Given the description of an element on the screen output the (x, y) to click on. 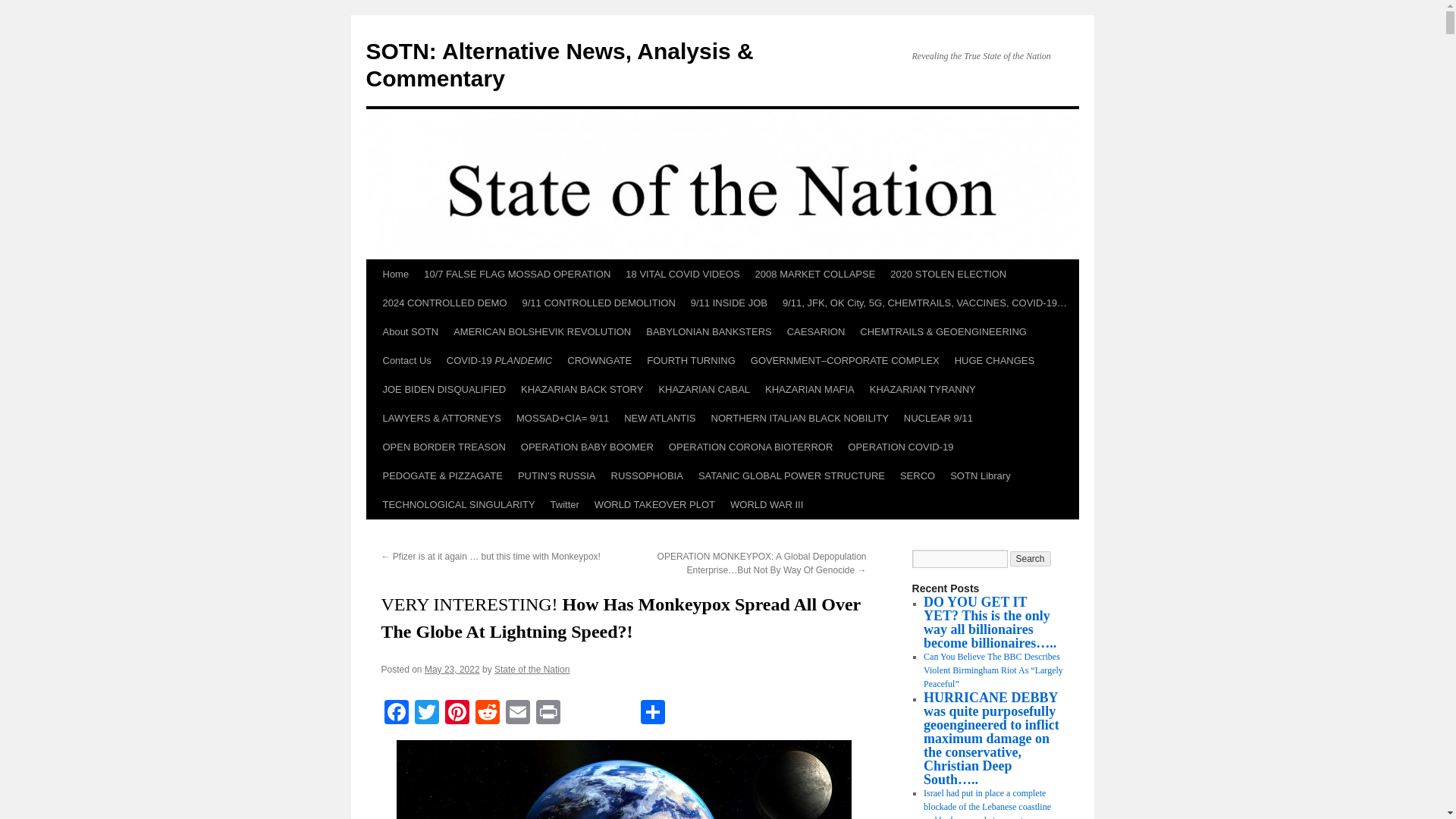
2024 CONTROLLED DEMO (443, 303)
RUSSOPHOBIA (647, 475)
JOE BIDEN DISQUALIFIED (443, 389)
Print (547, 714)
Search (1030, 558)
OPERATION CORONA BIOTERROR (750, 447)
FOURTH TURNING (690, 360)
Email (517, 714)
AMERICAN BOLSHEVIK REVOLUTION (542, 331)
Pinterest (456, 714)
Contact Us (406, 360)
SATANIC GLOBAL POWER STRUCTURE (791, 475)
CAESARION (815, 331)
OPERATION BABY BOOMER (587, 447)
Home (395, 274)
